Given the description of an element on the screen output the (x, y) to click on. 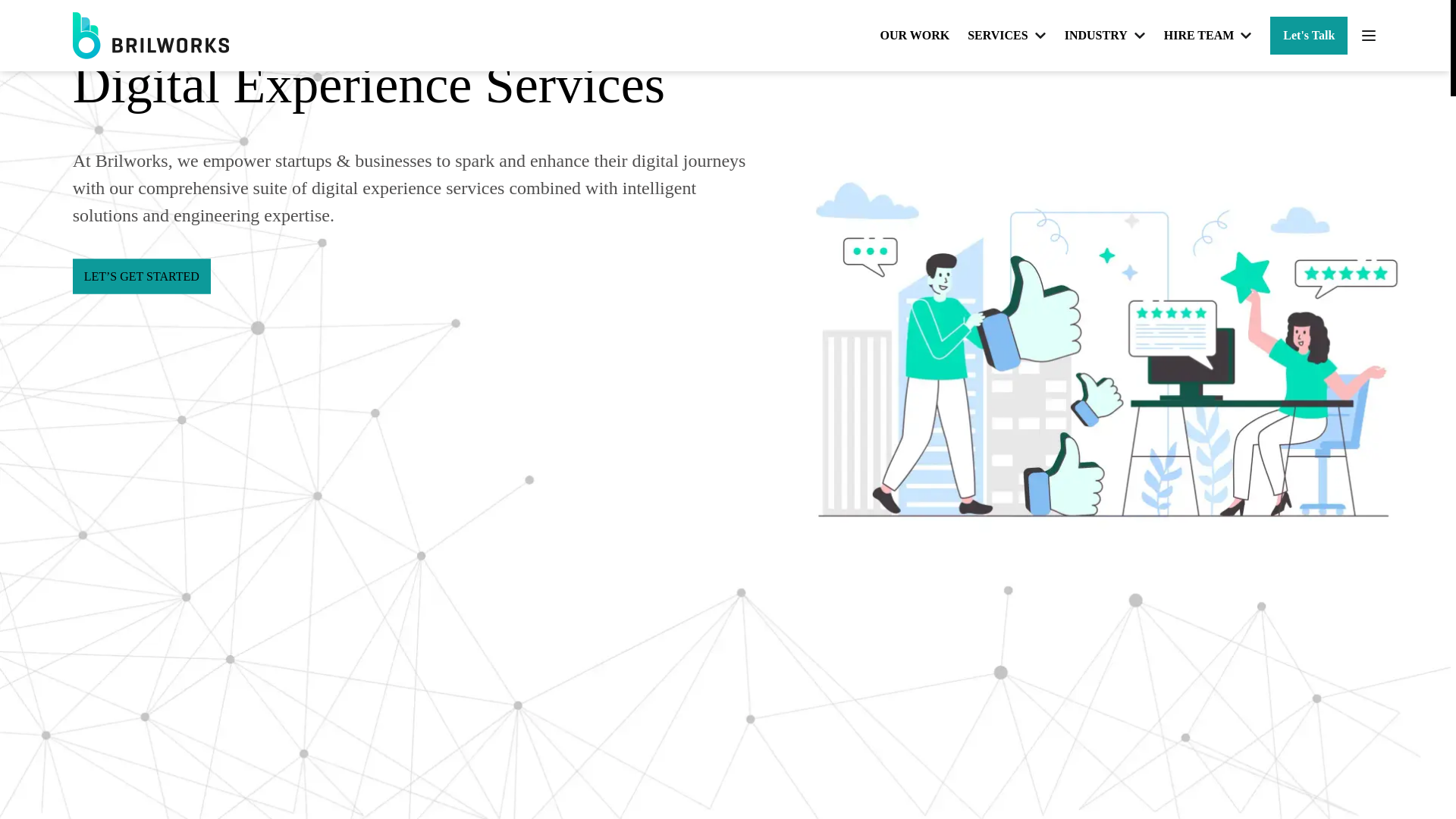
INDUSTRY (1104, 35)
Let's Talk (1308, 35)
Let's Talk (1308, 35)
OUR WORK (914, 35)
SERVICES (1006, 35)
HIRE TEAM (1207, 35)
